Given the description of an element on the screen output the (x, y) to click on. 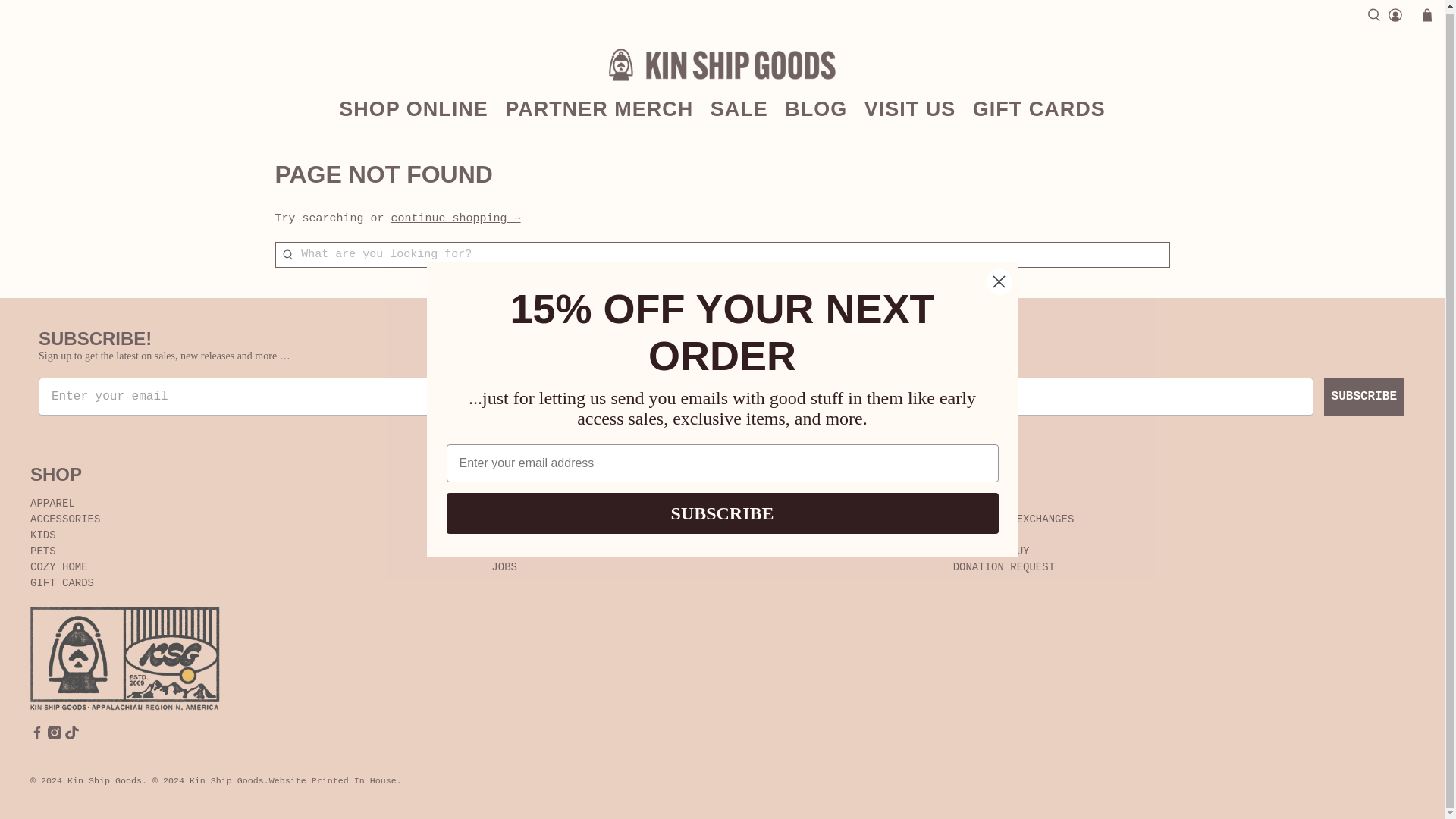
SALE (739, 108)
VISIT US (909, 108)
Kin Ship Goods on Facebook (36, 736)
Kin Ship Goods on Instagram (54, 736)
SHOP ONLINE (413, 108)
Kin Ship Goods (124, 658)
Kin Ship Goods on TikTok (71, 736)
Close dialog 2 (998, 278)
BLOG (816, 108)
PARTNER MERCH (598, 108)
Kin Ship Goods (721, 64)
GIFT CARDS (1039, 108)
